Given the description of an element on the screen output the (x, y) to click on. 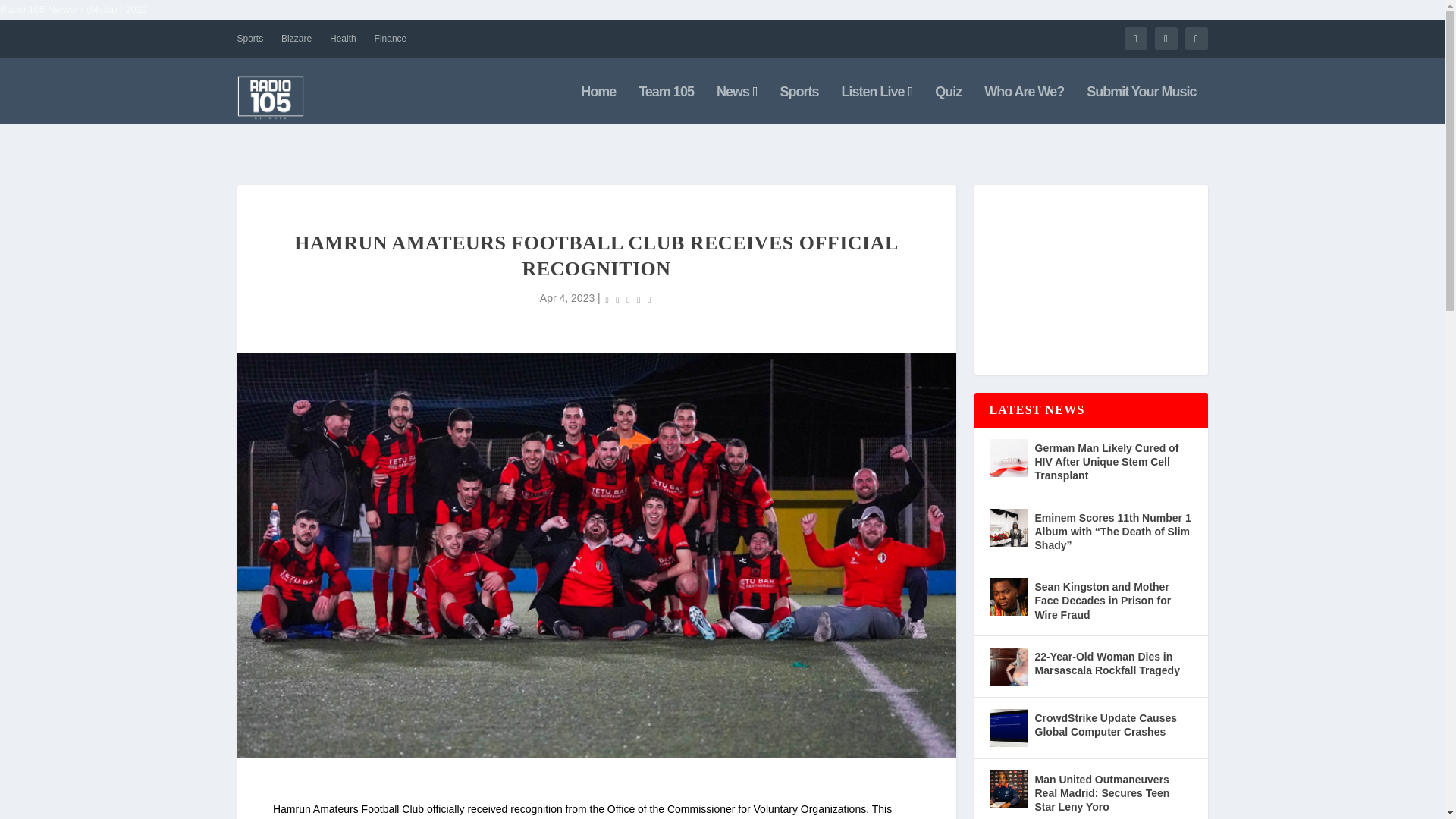
Team 105 (666, 104)
Finance (390, 38)
Who Are We? (1024, 104)
News (736, 104)
Rating: 0.00 (628, 298)
Submit Your Music (1140, 104)
Sports (799, 104)
Home (597, 104)
Listen Live (876, 104)
